Given the description of an element on the screen output the (x, y) to click on. 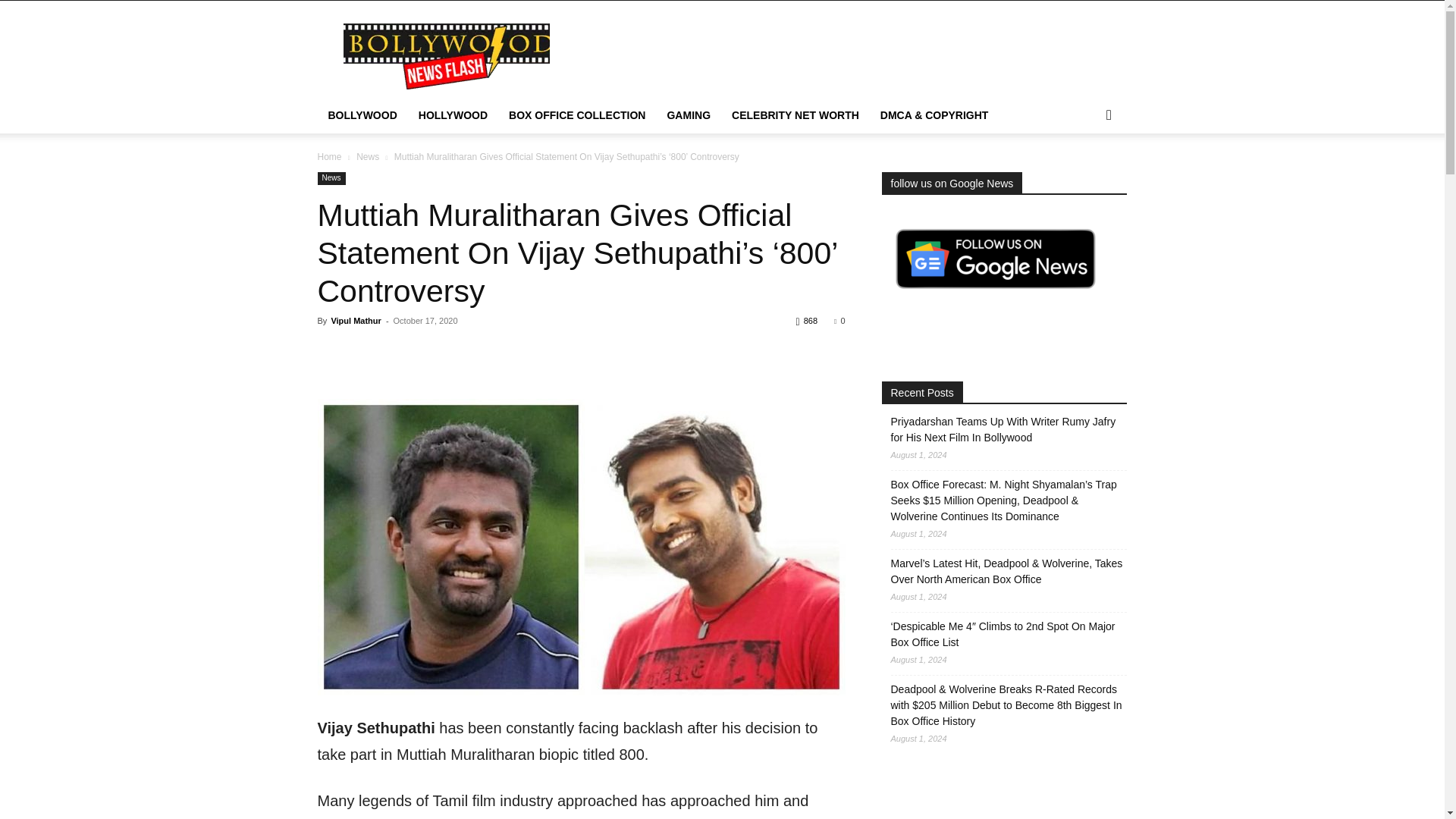
News (331, 178)
GAMING (688, 115)
CELEBRITY NET WORTH (794, 115)
Home (328, 156)
News (367, 156)
Search (1085, 175)
BOX OFFICE COLLECTION (576, 115)
Vipul Mathur (355, 320)
0 (839, 320)
View all posts in News (367, 156)
HOLLYWOOD (452, 115)
BOLLYWOOD (362, 115)
